Given the description of an element on the screen output the (x, y) to click on. 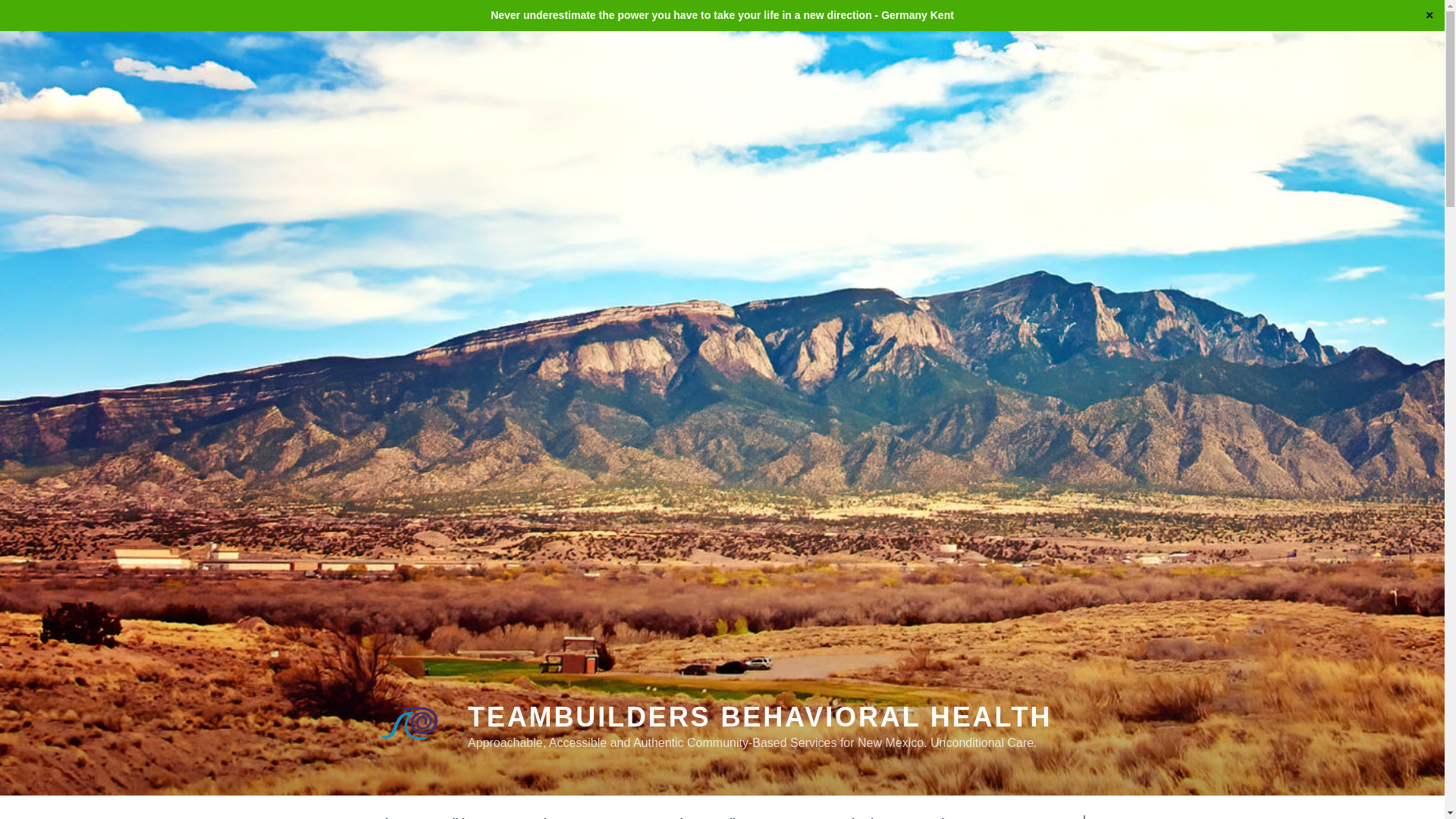
Scroll down to content (1082, 811)
Calendar (860, 811)
Client Resources (765, 811)
TEAMBUILDERS BEHAVIORAL HEALTH (759, 716)
Jobs (679, 811)
About TeamBuilders (433, 811)
Locations (943, 811)
Scroll down to content (1082, 811)
